Given the description of an element on the screen output the (x, y) to click on. 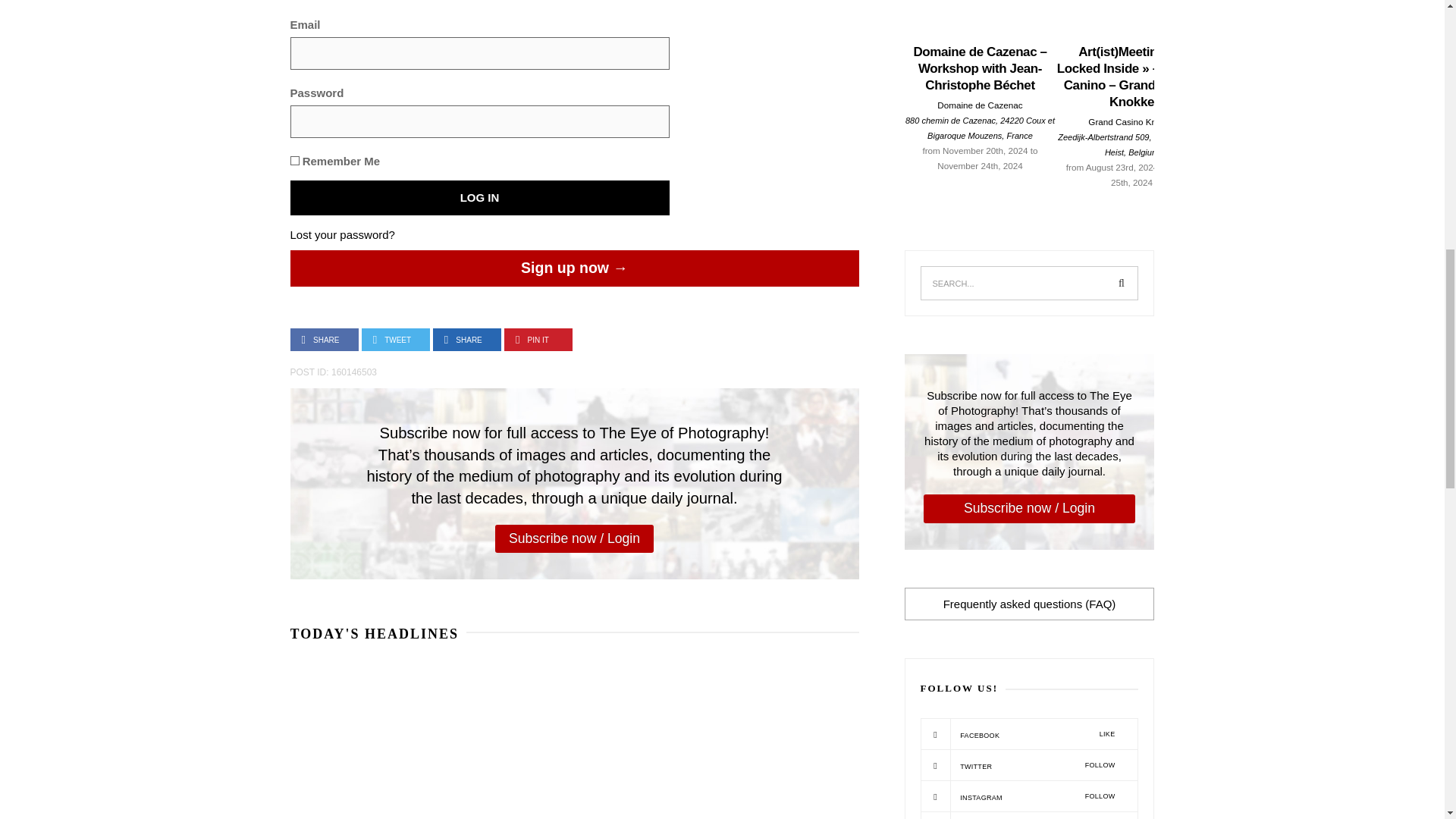
Log In (478, 197)
forever (293, 160)
